Given the description of an element on the screen output the (x, y) to click on. 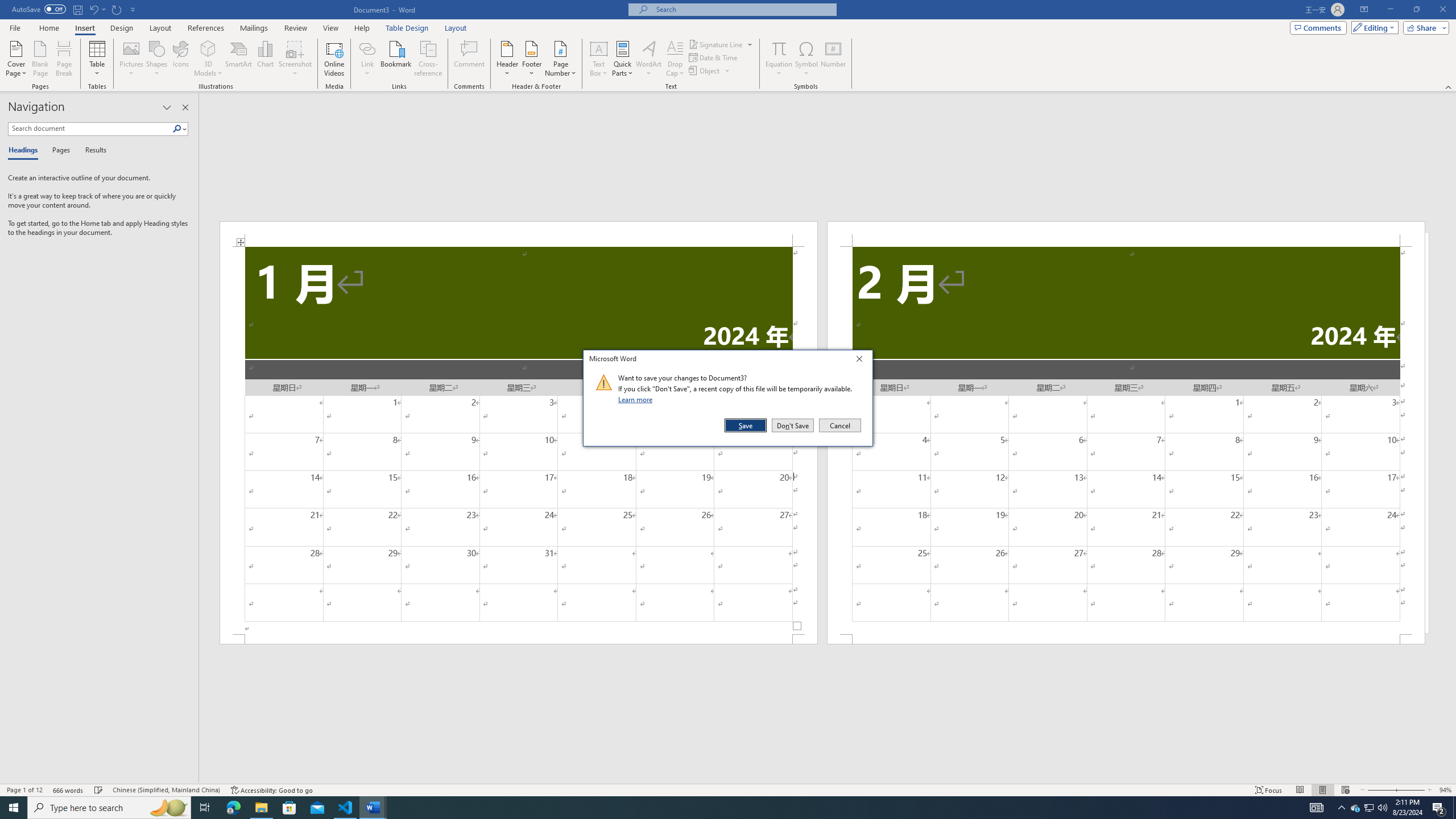
Object... (709, 69)
Read Mode (1299, 790)
Header (507, 58)
Help (361, 28)
AutomationID: 4105 (1316, 807)
Footer -Section 1- (518, 638)
Share (1423, 27)
3D Models (208, 48)
Undo Increase Indent (92, 9)
Task View (204, 807)
Bookmark... (396, 58)
AutoSave (38, 9)
Ribbon Display Options (1364, 9)
Search (177, 128)
